Given the description of an element on the screen output the (x, y) to click on. 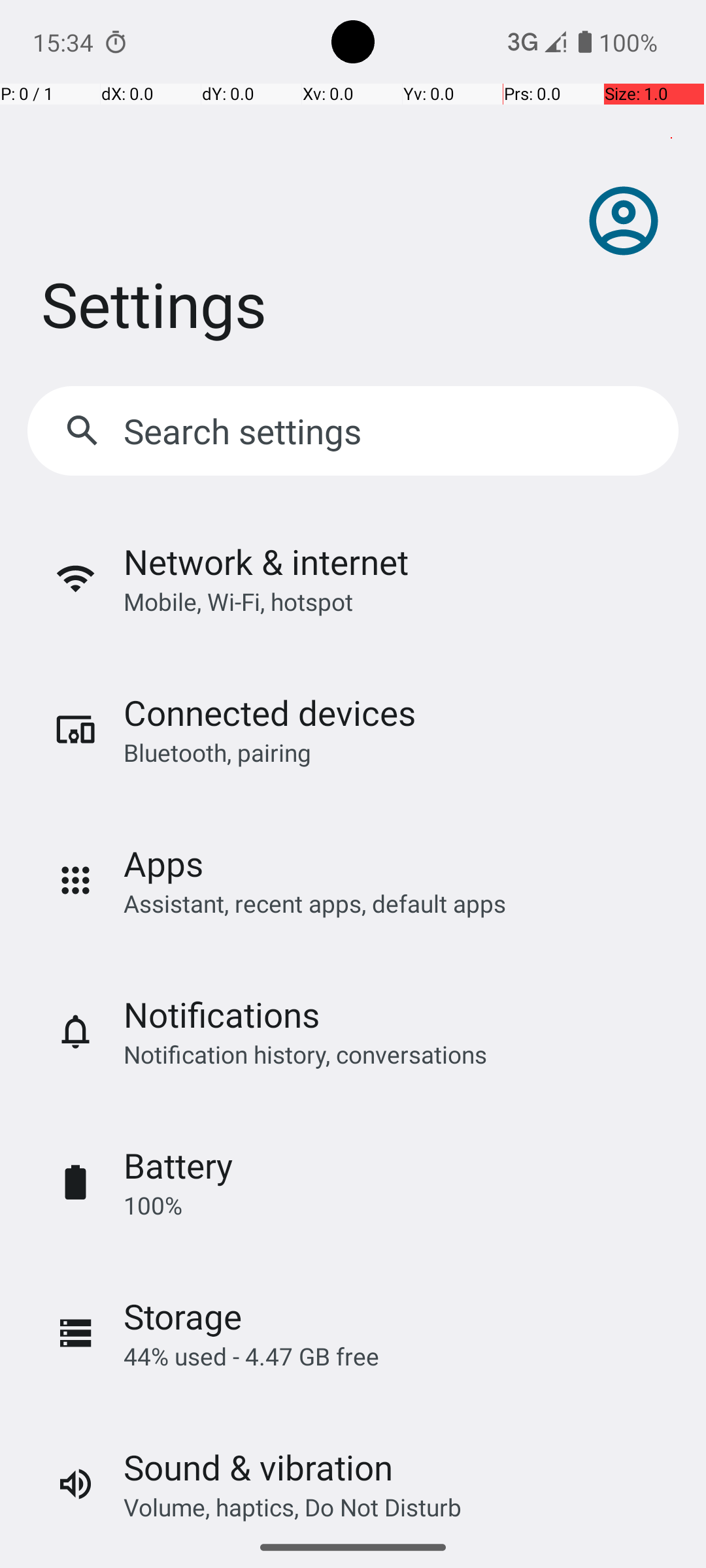
44% used - 4.47 GB free Element type: android.widget.TextView (251, 1355)
